Given the description of an element on the screen output the (x, y) to click on. 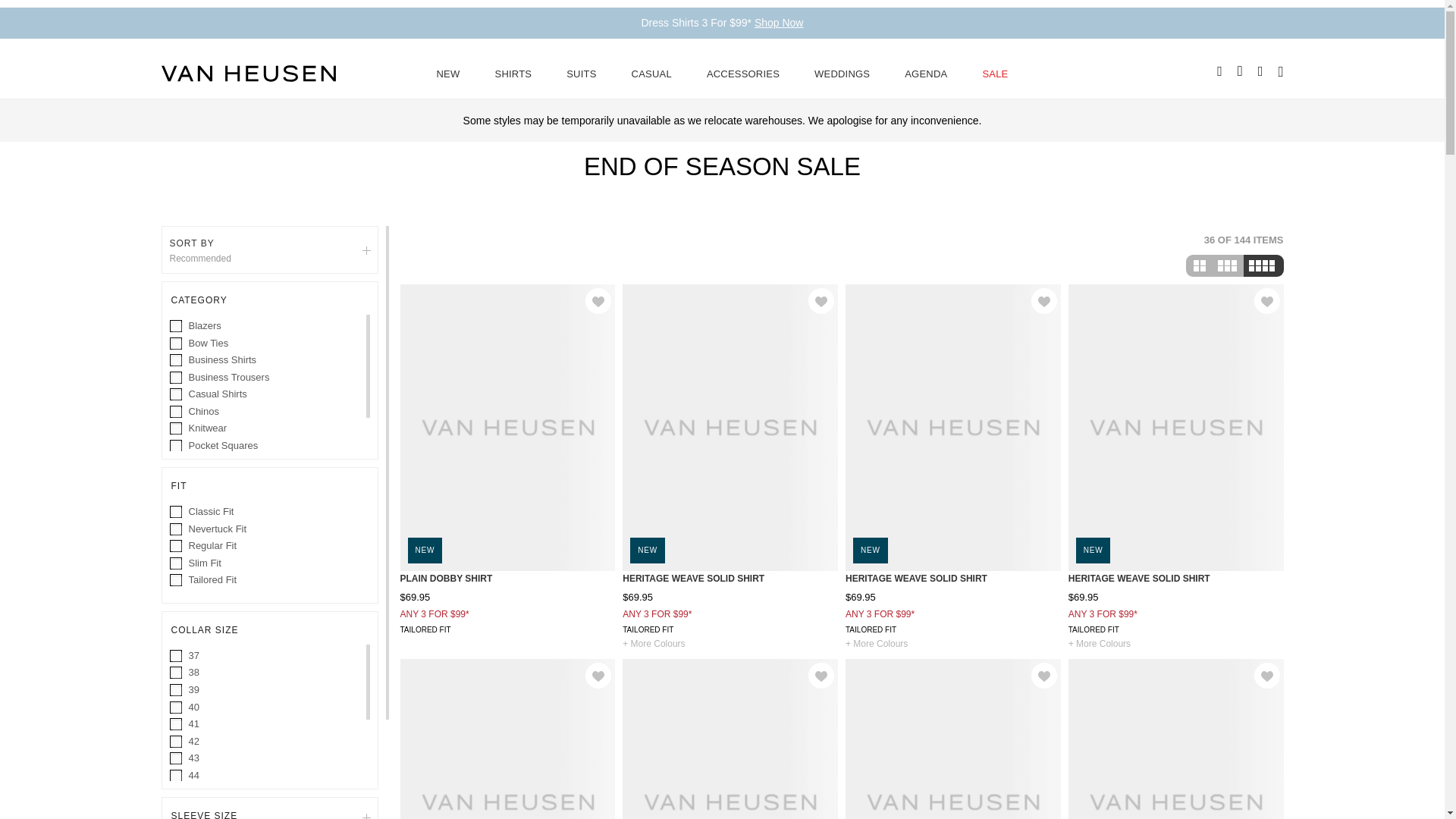
on (176, 511)
on (176, 394)
on (176, 673)
SHIRTS (513, 73)
on (176, 546)
on (176, 480)
on (176, 412)
NEW (448, 73)
on (176, 580)
on (176, 429)
